Given the description of an element on the screen output the (x, y) to click on. 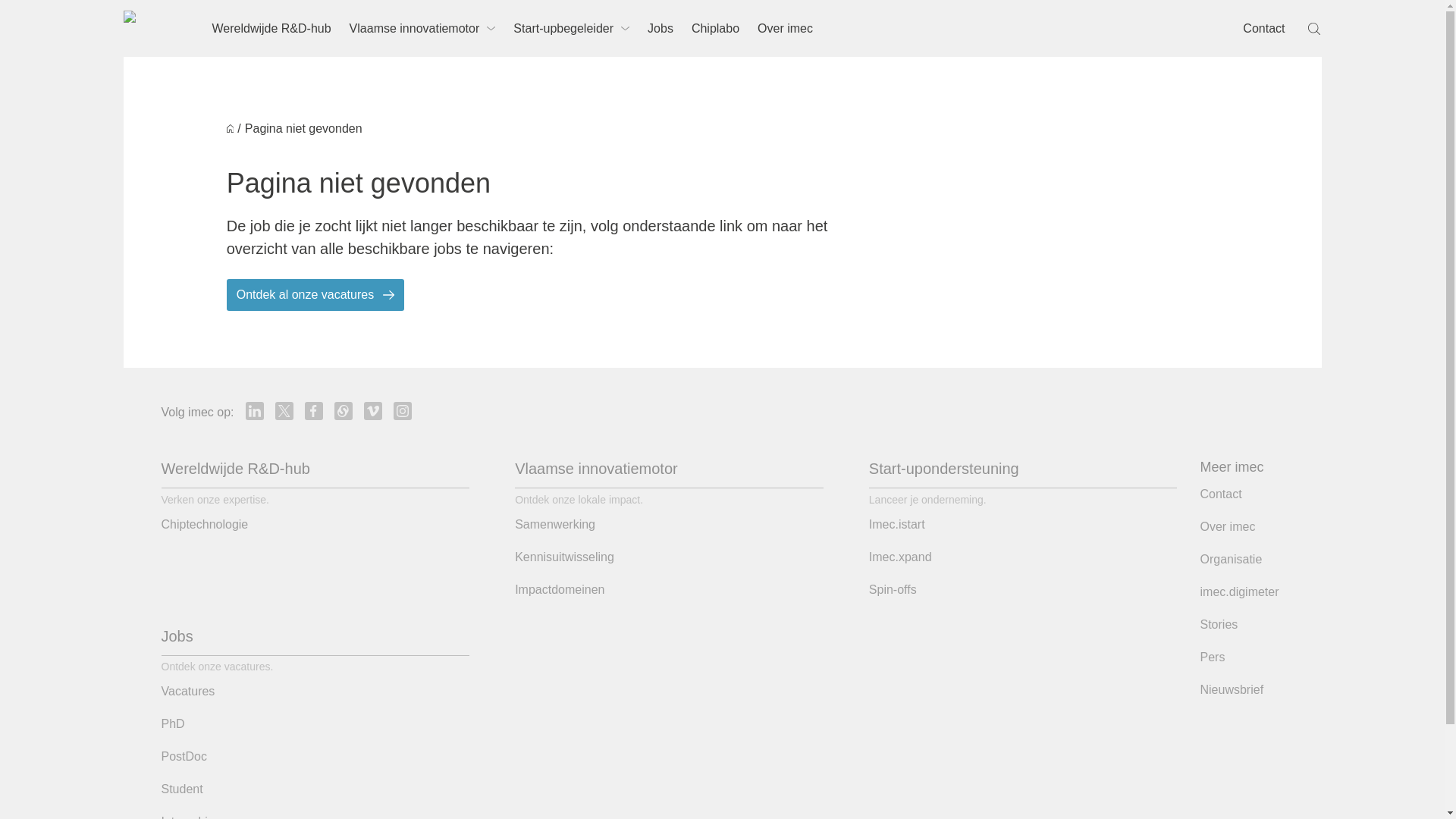
PhD (172, 723)
Jobs (176, 636)
imec (150, 28)
Kennisuitwisseling (564, 556)
Search (1314, 28)
Swivle (343, 411)
Over imec (785, 28)
Chiplabo (715, 28)
Start-upbegeleider (571, 28)
Vacatures (187, 691)
